Given the description of an element on the screen output the (x, y) to click on. 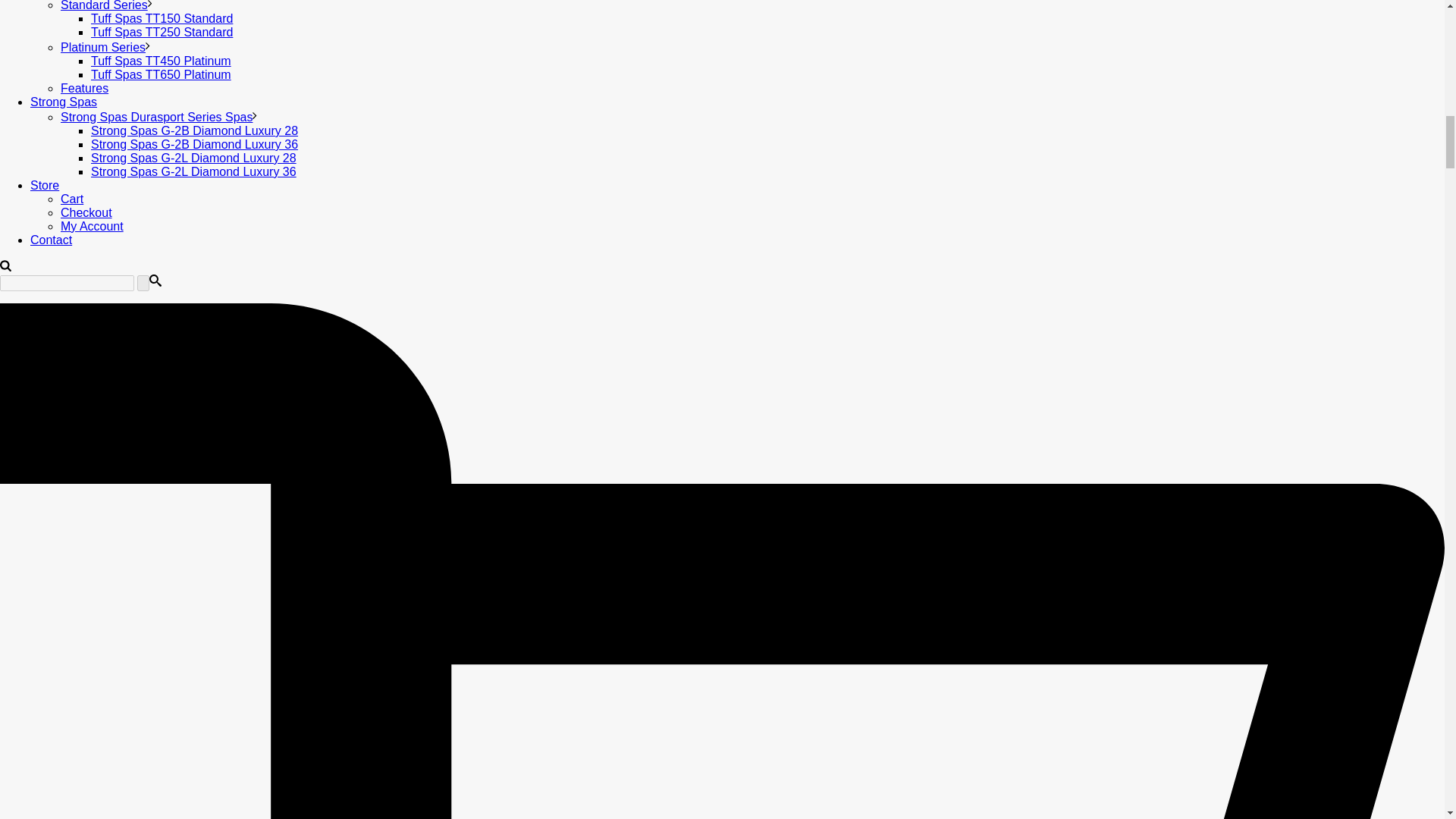
Strong Spas Durasport Series Spas (156, 116)
Tuff Spas TT150 Standard (161, 18)
Features (84, 88)
Checkout (86, 212)
Platinum Series (103, 47)
Strong Spas G-2L Diamond Luxury 36 (193, 171)
Cart (71, 198)
Standard Series (104, 5)
Tuff Spas TT450 Platinum (160, 60)
Store (44, 185)
